Given the description of an element on the screen output the (x, y) to click on. 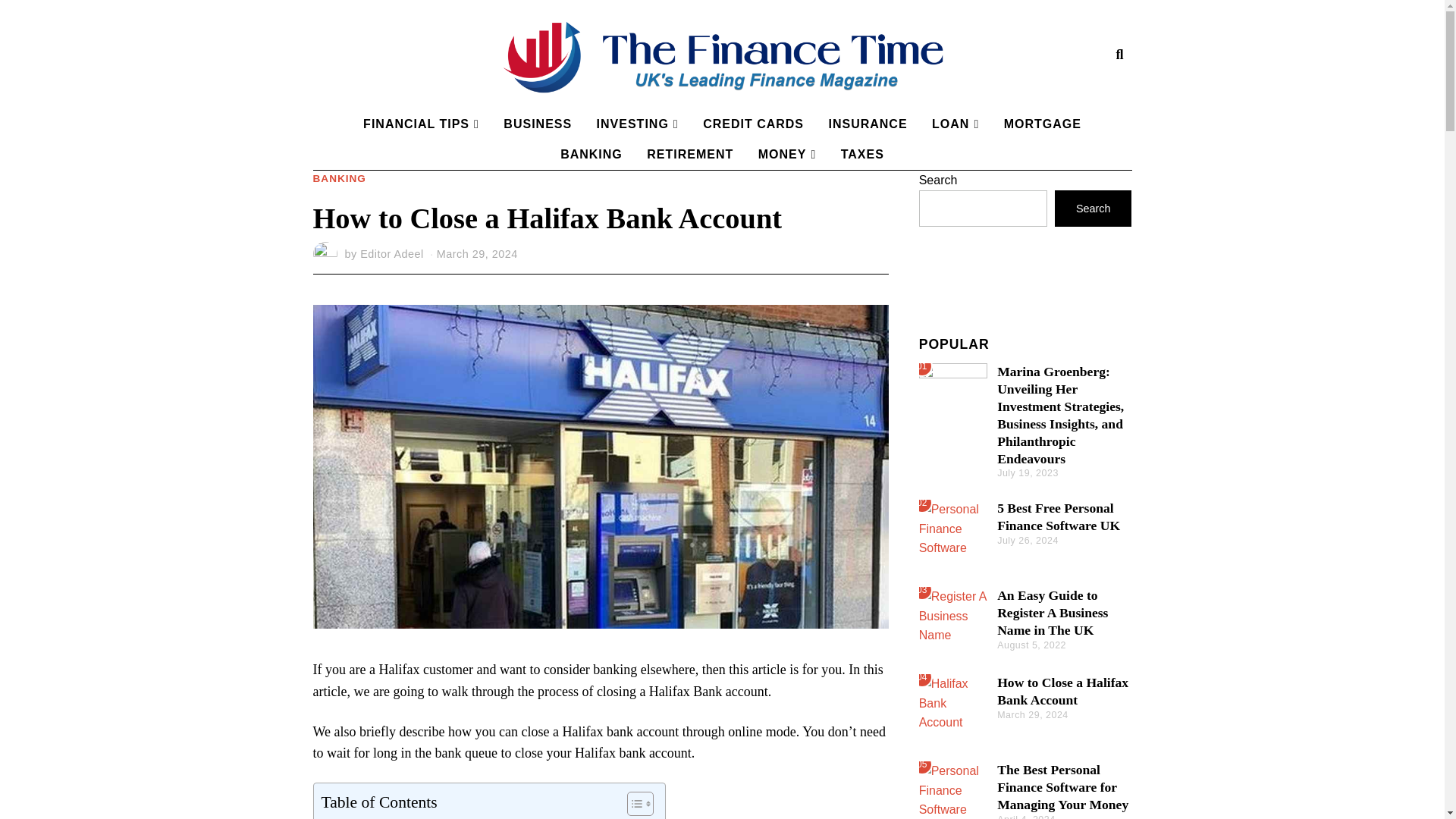
INSURANCE (866, 123)
CREDIT CARDS (753, 123)
INVESTING (637, 123)
TAXES (862, 154)
RETIREMENT (690, 154)
BUSINESS (537, 123)
Editor Adeel (391, 254)
Why Close a Halifax Bank Account? (423, 817)
BANKING (339, 178)
MORTGAGE (1042, 123)
BANKING (591, 154)
MONEY (787, 154)
Why Close a Halifax Bank Account? (423, 817)
LOAN (955, 123)
FINANCIAL TIPS (420, 123)
